Given the description of an element on the screen output the (x, y) to click on. 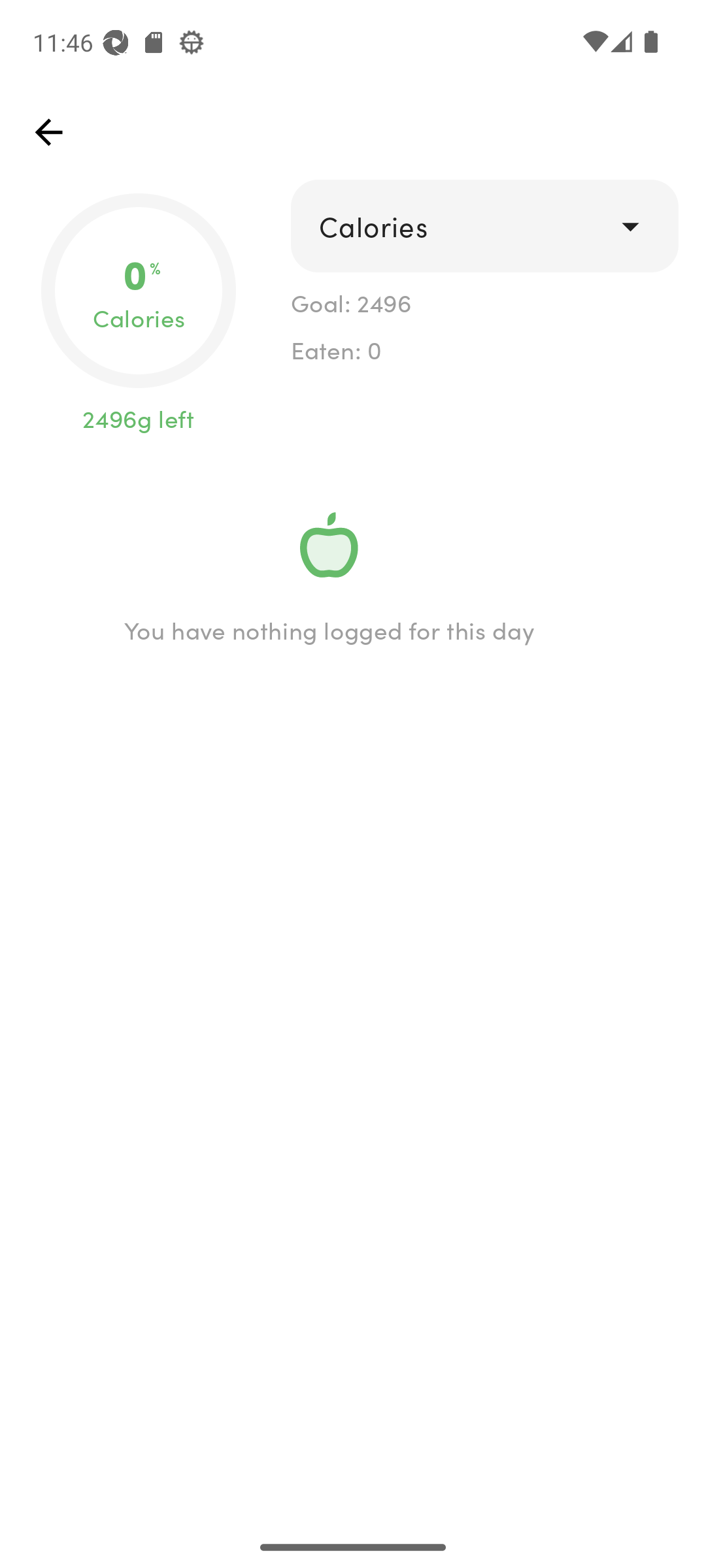
top_left_action (48, 132)
drop_down Calories (484, 226)
